Given the description of an element on the screen output the (x, y) to click on. 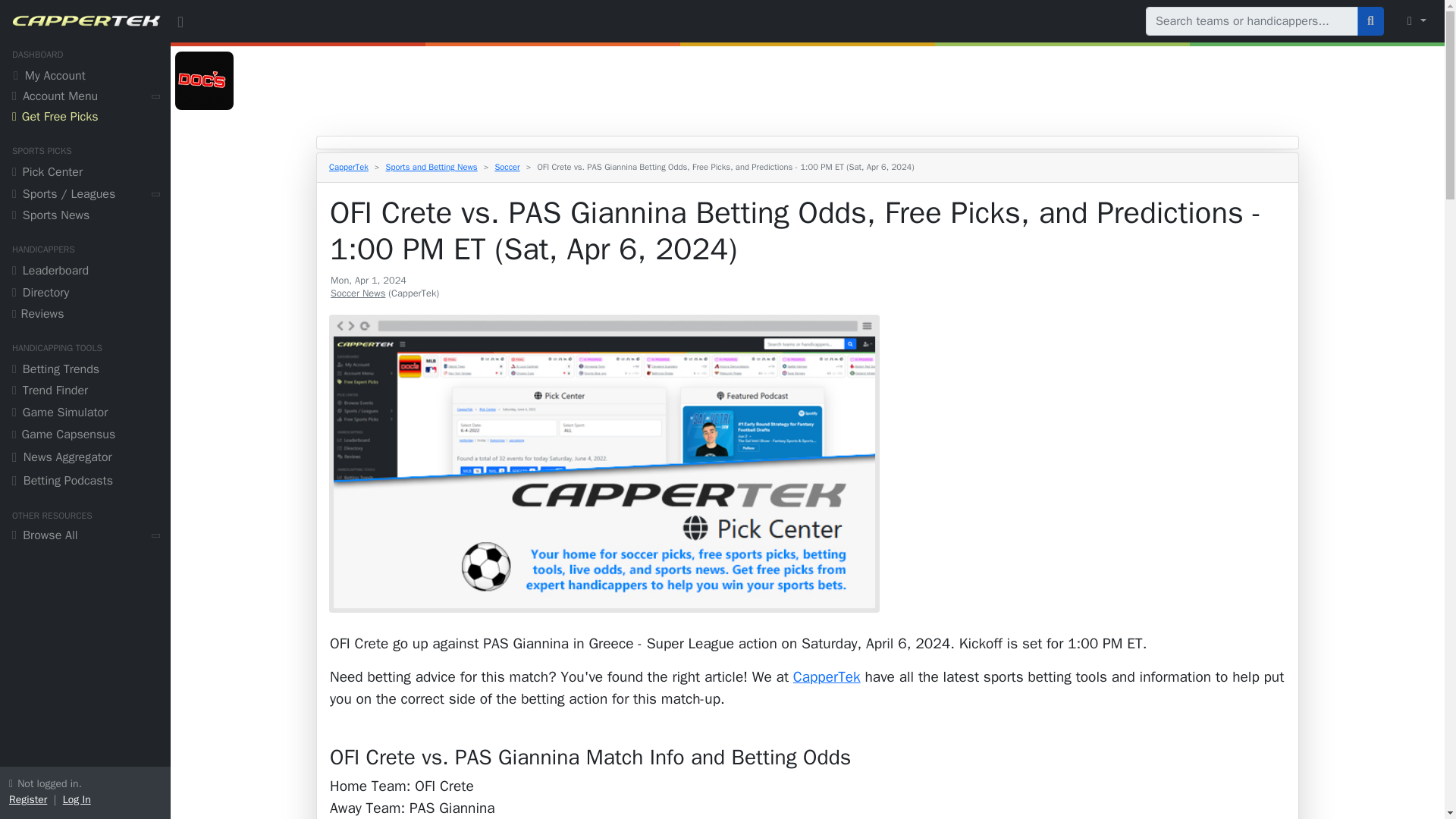
Directory (85, 294)
Game Simulator (85, 414)
Trend Finder (85, 392)
Account Menu (85, 97)
Sports News (85, 217)
Betting Trends (85, 371)
My Account (85, 77)
Reviews (85, 315)
Betting Podcasts (85, 482)
Leaderboard (85, 272)
Game Capsensus (85, 436)
Browse All (85, 536)
Get Free Picks (85, 118)
Pick Center (85, 173)
News Aggregator (85, 458)
